Given the description of an element on the screen output the (x, y) to click on. 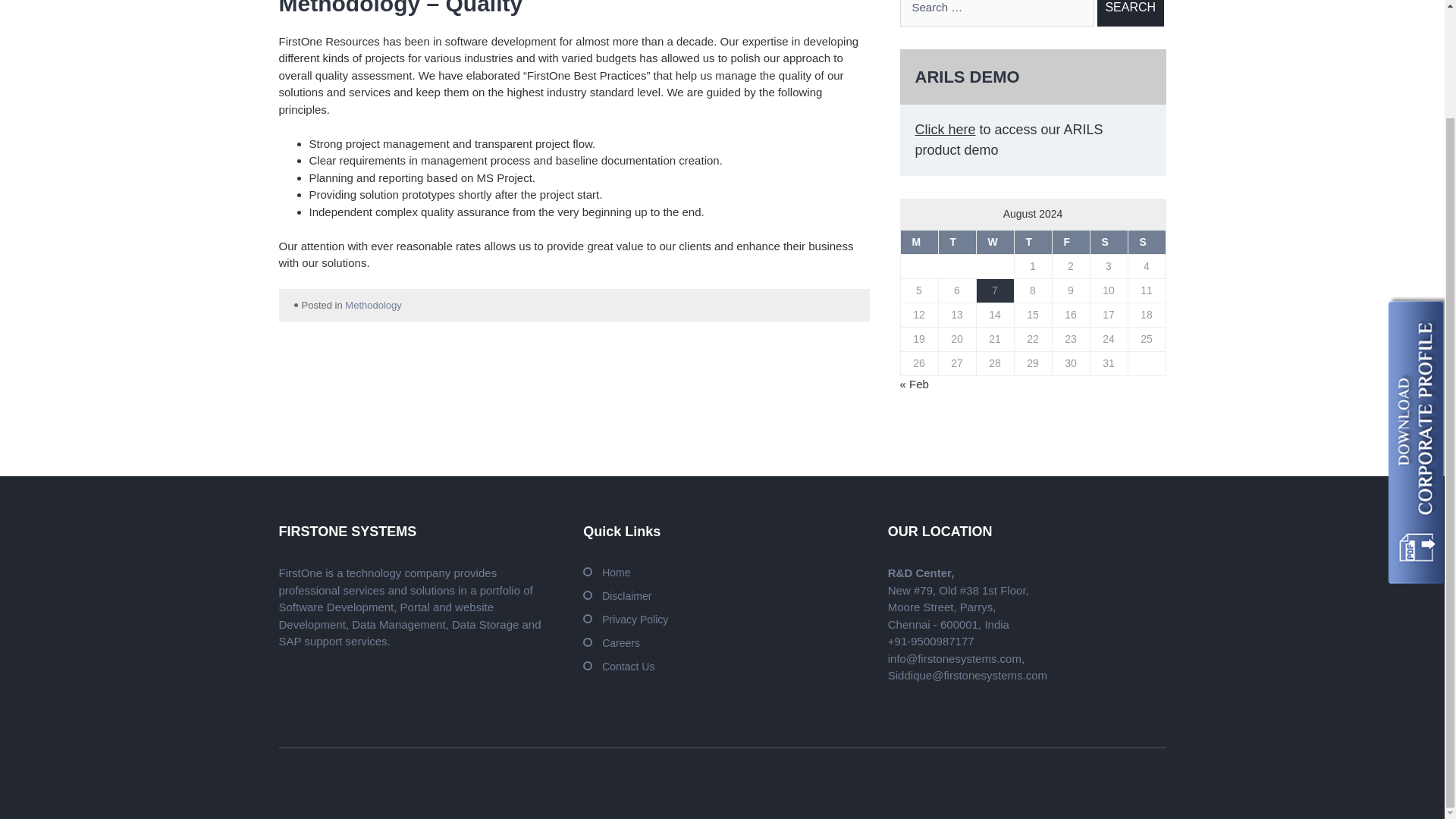
Wednesday (994, 241)
Monday (918, 241)
Sunday (1146, 241)
Saturday (1107, 241)
Search (1130, 13)
Friday (1070, 241)
Search (1130, 13)
Thursday (1032, 241)
Tuesday (956, 241)
